Given the description of an element on the screen output the (x, y) to click on. 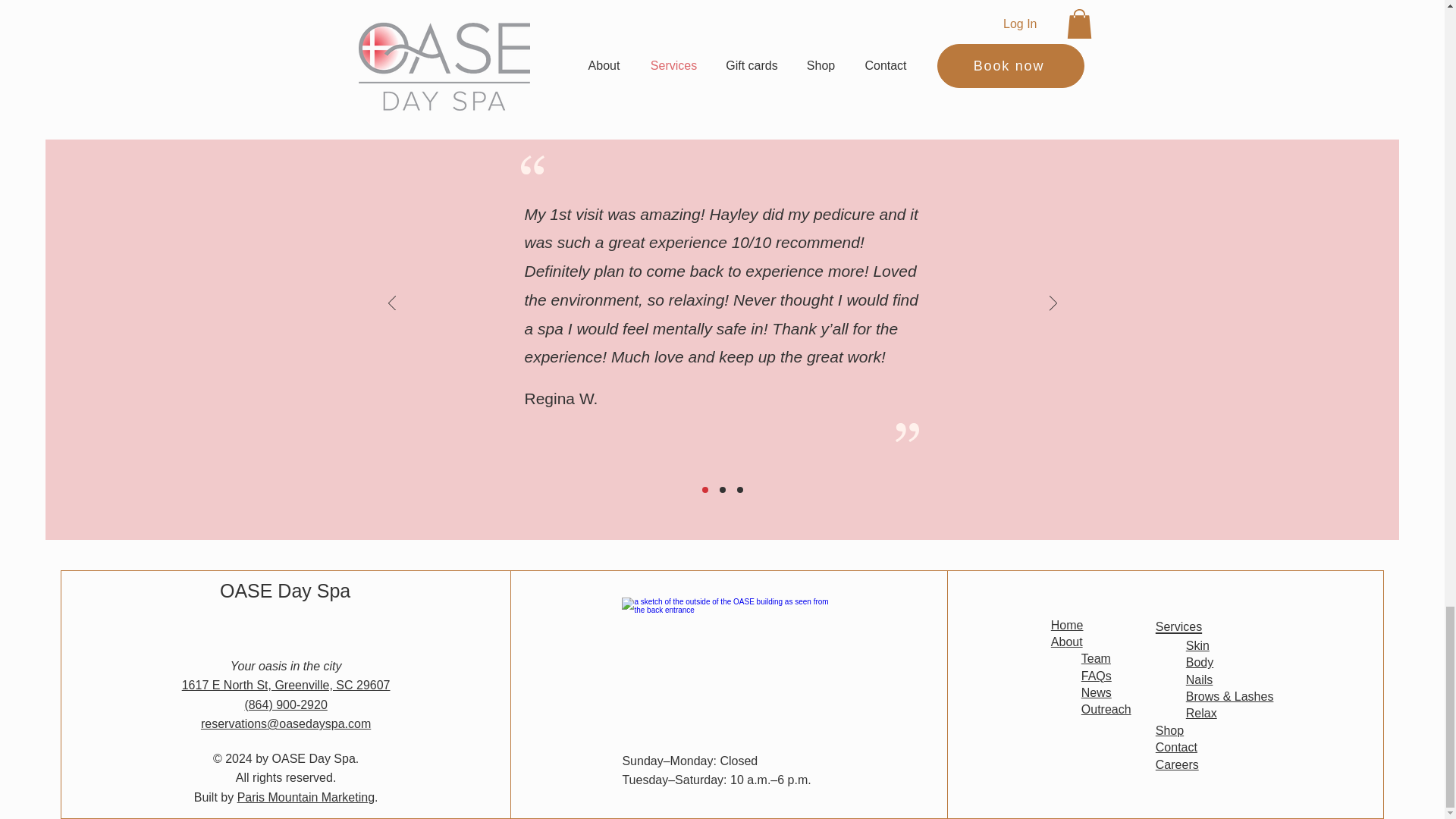
About (1067, 641)
FAQs (1096, 675)
Paris Mountain Marketing (305, 797)
OASE Day Spa (284, 590)
1617 E North St, Greenville, SC 29607 (286, 684)
Home (1067, 624)
Team (1095, 658)
